Given the description of an element on the screen output the (x, y) to click on. 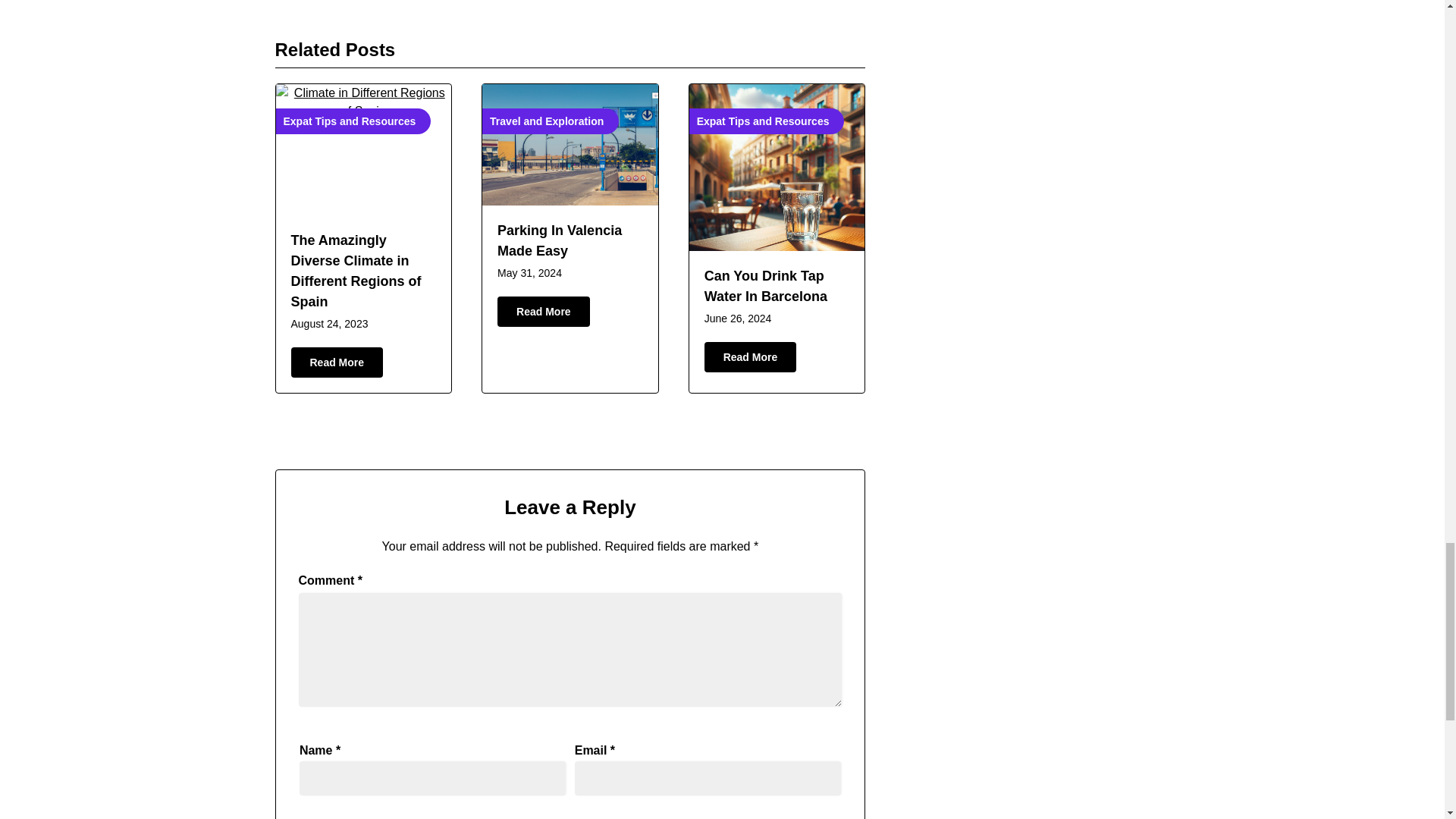
Read More (337, 362)
Expat Tips and Resources (363, 150)
May 31, 2024 (529, 272)
Parking In Valencia Made Easy (559, 240)
The Amazingly Diverse Climate in Different Regions of Spain (356, 270)
Can You Drink Tap Water In Barcelona (765, 285)
Expat Tips and Resources (776, 167)
August 24, 2023 (329, 323)
Can You Drink Tap Water In Barcelona 5 (776, 167)
